Given the description of an element on the screen output the (x, y) to click on. 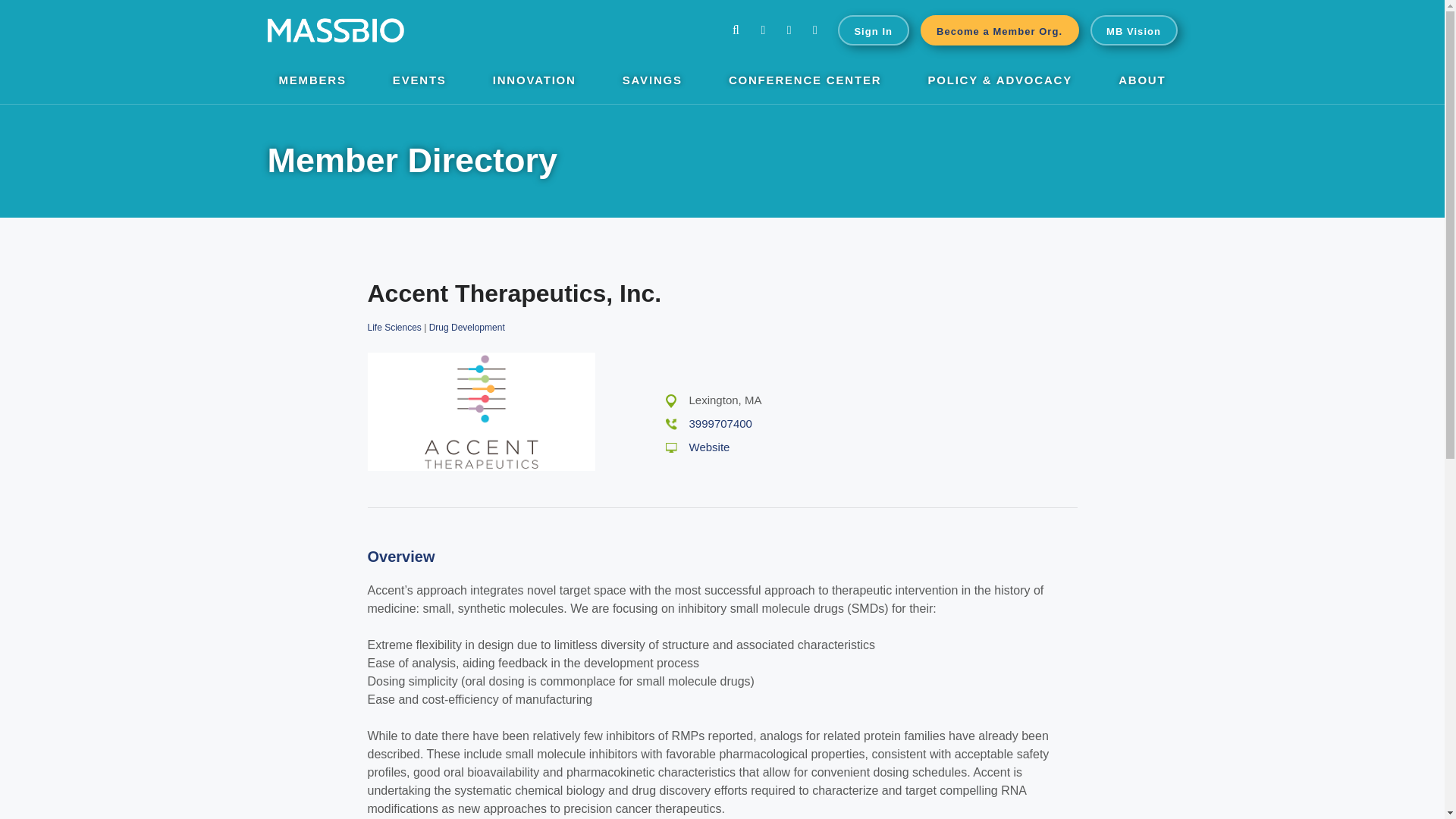
CONFERENCE CENTER (804, 82)
SAVINGS (652, 82)
MB Vision (1133, 30)
MEMBERS (312, 82)
Sign In (873, 30)
Become a Member Org. (999, 30)
MassBio (334, 30)
INNOVATION (534, 82)
EVENTS (419, 82)
